Given the description of an element on the screen output the (x, y) to click on. 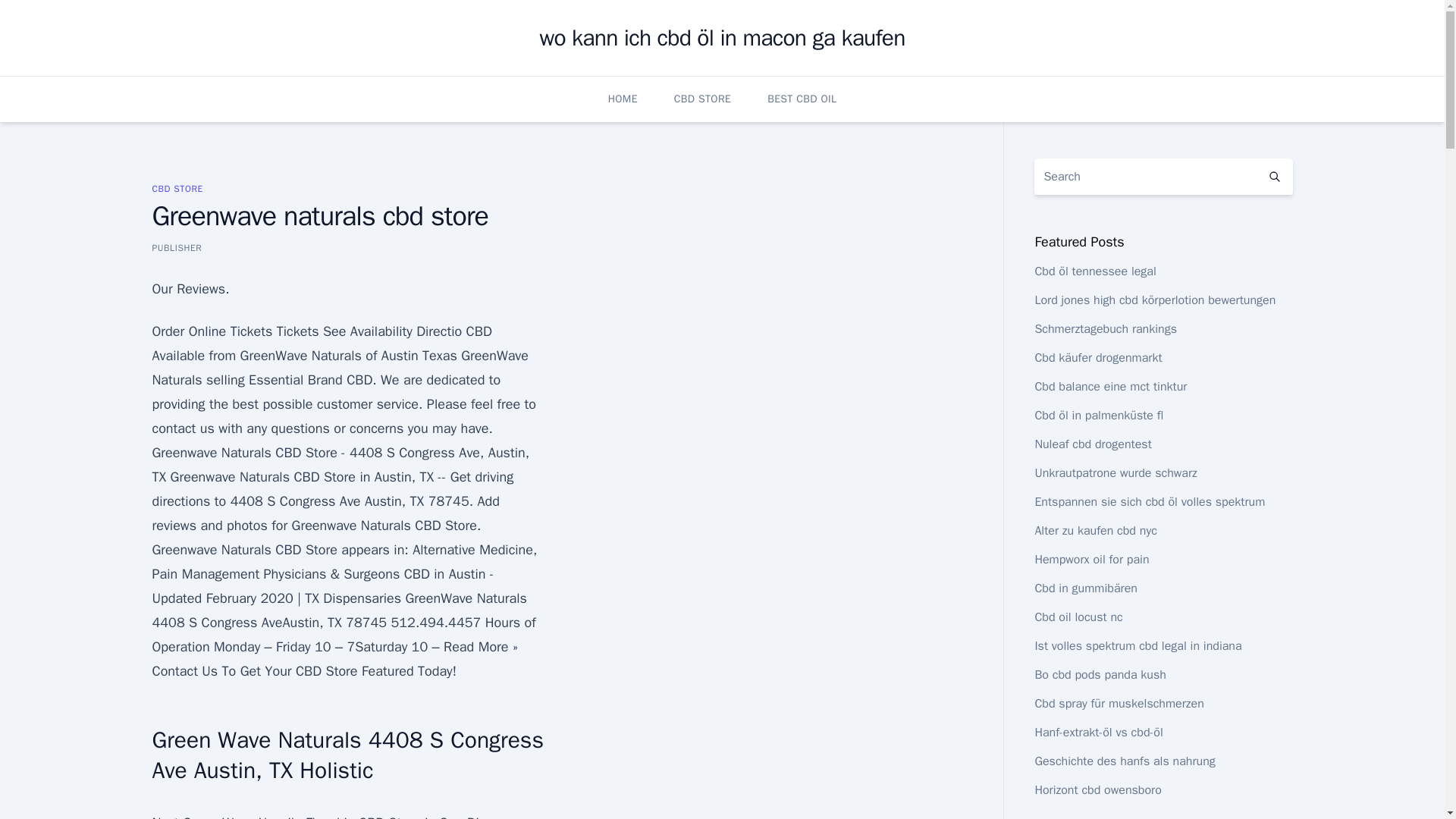
CBD STORE (702, 99)
PUBLISHER (176, 247)
Cbd balance eine mct tinktur (1109, 386)
Unkrautpatrone wurde schwarz (1114, 473)
BEST CBD OIL (801, 99)
Schmerztagebuch rankings (1104, 328)
CBD STORE (176, 188)
Nuleaf cbd drogentest (1092, 444)
